Given the description of an element on the screen output the (x, y) to click on. 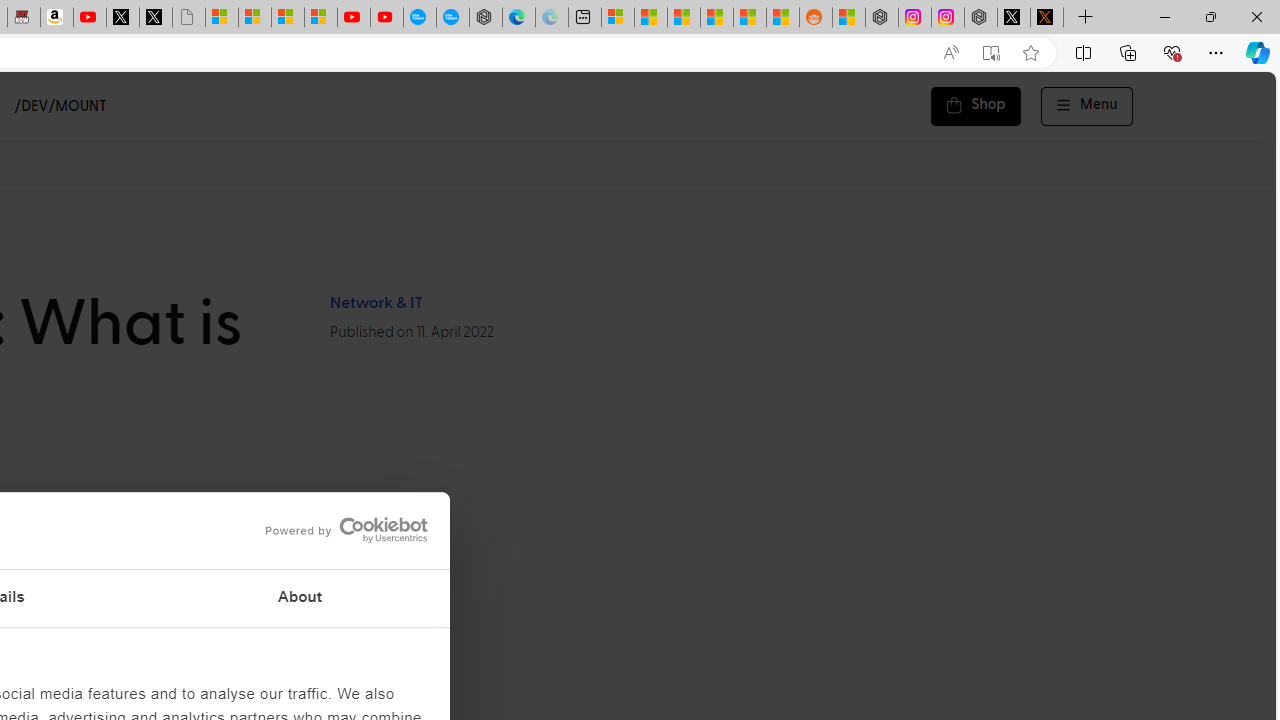
About (299, 598)
Network & IT (375, 303)
Nordace - Nordace has arrived Hong Kong (485, 17)
Shanghai, China hourly forecast | Microsoft Weather (684, 17)
help.x.com | 524: A timeout occurred (1046, 17)
Shop (975, 106)
logo - opens in a new window (339, 530)
The most popular Google 'how to' searches (452, 17)
Enter Immersive Reader (F9) (991, 53)
